Given the description of an element on the screen output the (x, y) to click on. 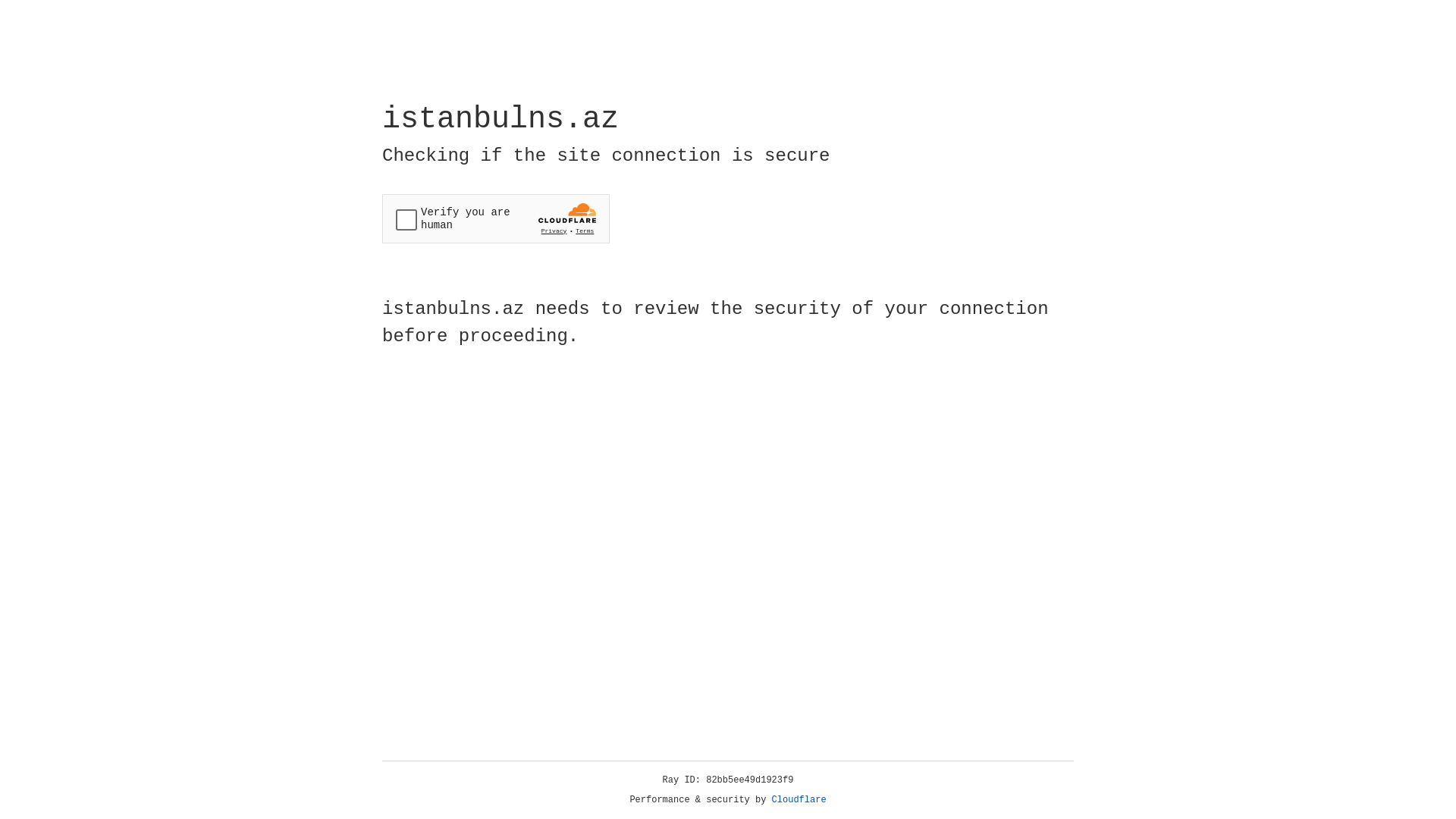
Widget containing a Cloudflare security challenge Element type: hover (495, 218)
Cloudflare Element type: text (798, 799)
